Given the description of an element on the screen output the (x, y) to click on. 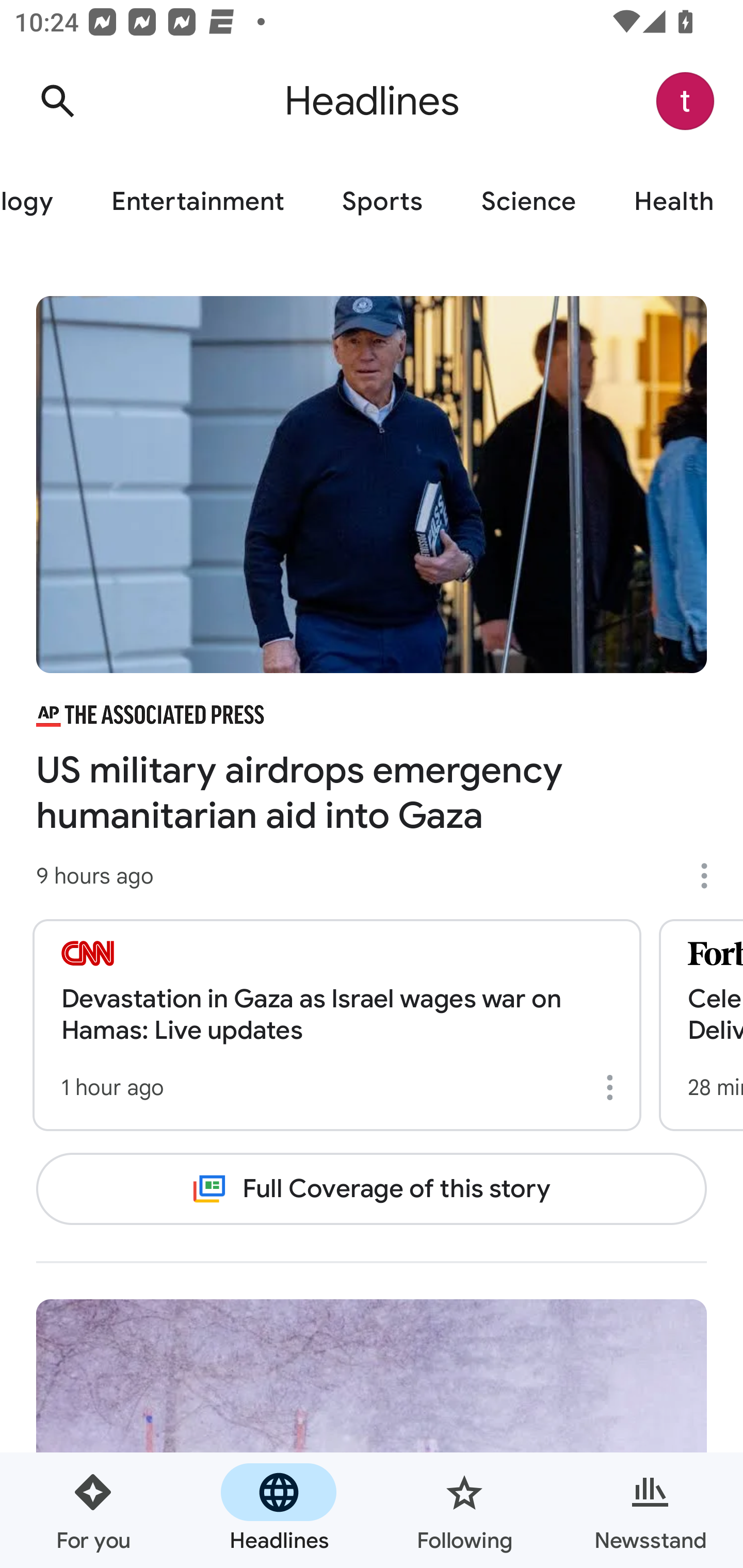
Search (57, 100)
Entertainment (197, 202)
Sports (382, 202)
Science (527, 202)
Health (673, 202)
More options (711, 875)
More options (613, 1086)
Full Coverage of this story (371, 1188)
For you (92, 1509)
Headlines (278, 1509)
Following (464, 1509)
Newsstand (650, 1509)
